Given the description of an element on the screen output the (x, y) to click on. 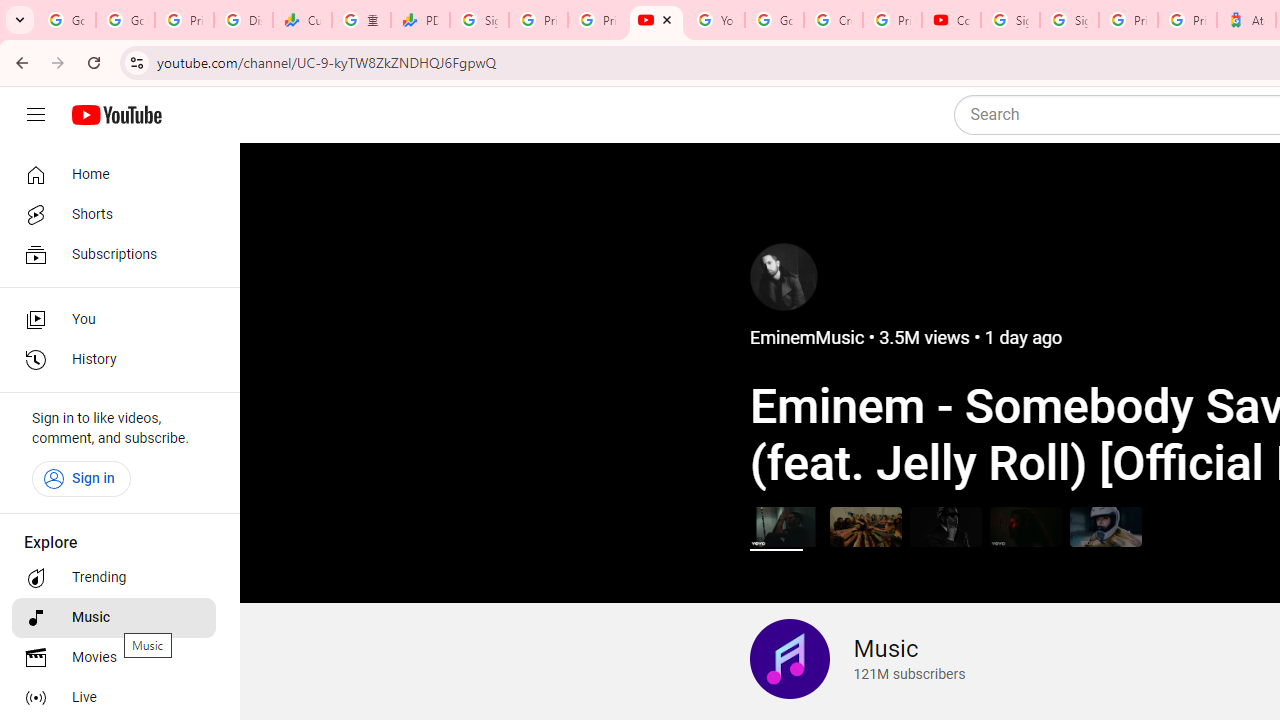
Google Account Help (774, 20)
YouTube Home (116, 115)
Home (113, 174)
Hozier - Nobody's Soldier (Official Video) (1025, 526)
